Given the description of an element on the screen output the (x, y) to click on. 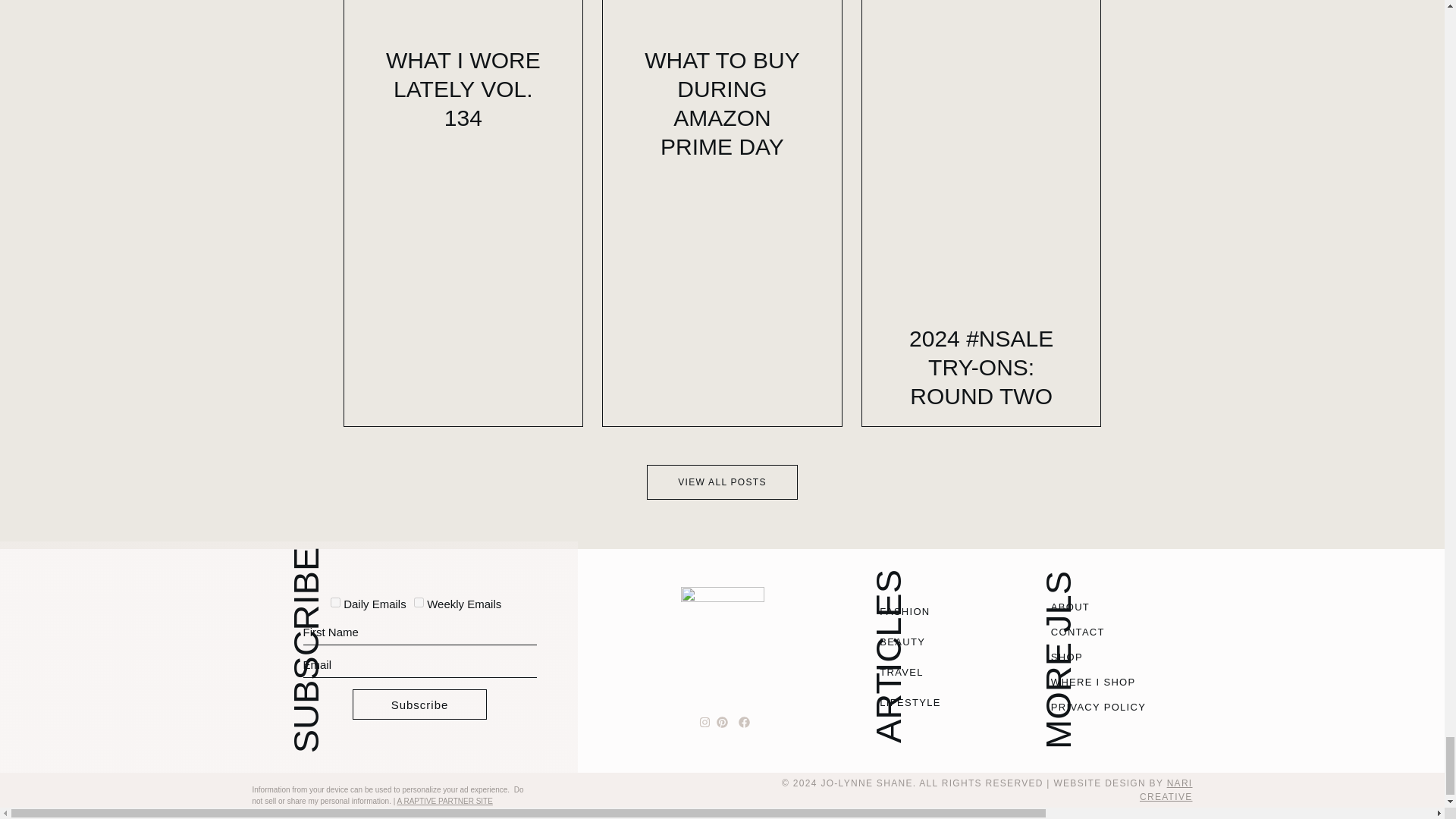
Daily Emails (335, 602)
Weekly Emails (418, 602)
